Given the description of an element on the screen output the (x, y) to click on. 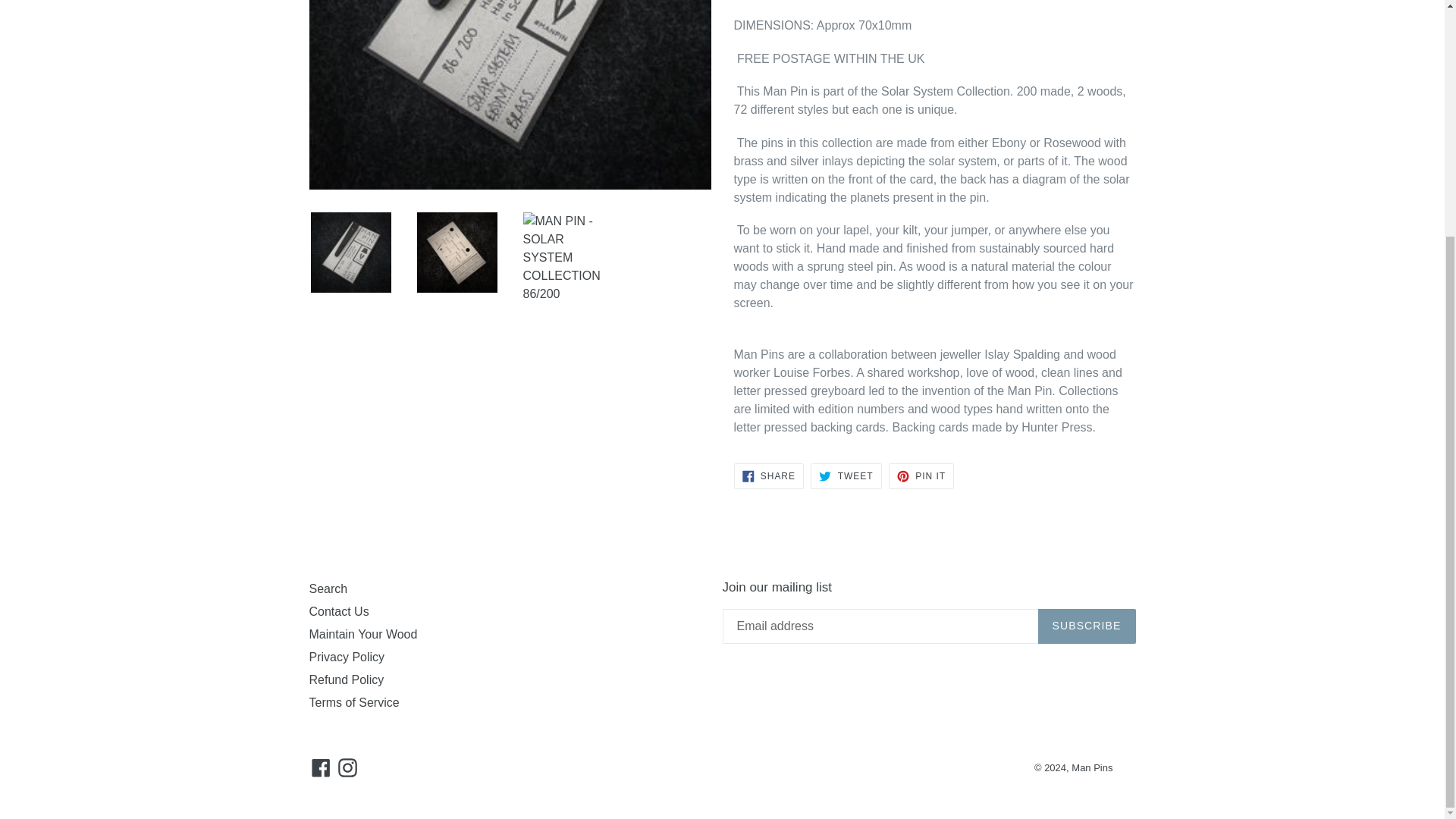
Man Pins (1091, 767)
Privacy Policy (346, 656)
Maintain Your Wood (362, 634)
Man Pins on Facebook (320, 767)
Instagram (347, 767)
Refund Policy (346, 679)
Search (327, 588)
Facebook (320, 767)
Man Pins on Instagram (347, 767)
SUBSCRIBE (920, 475)
Terms of Service (1085, 626)
Pin on Pinterest (353, 702)
